Given the description of an element on the screen output the (x, y) to click on. 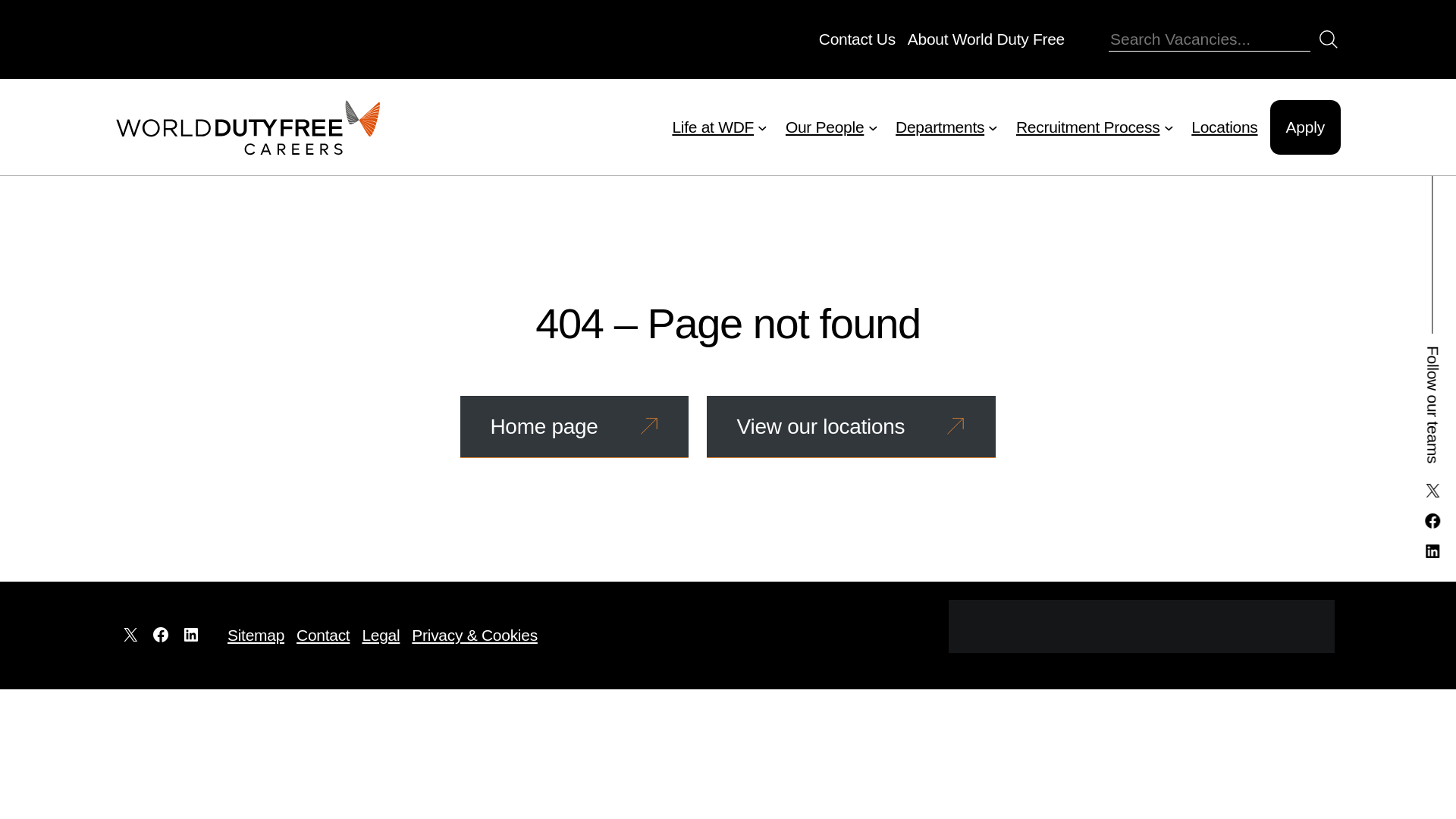
Apply (1304, 126)
Our People (824, 127)
Locations (1224, 127)
LinkedIn (1432, 551)
Life at WDF (712, 127)
Search (1328, 39)
About World Duty Free (985, 38)
View our locations (850, 426)
Contact (323, 635)
Recruitment Process (1087, 127)
